Given the description of an element on the screen output the (x, y) to click on. 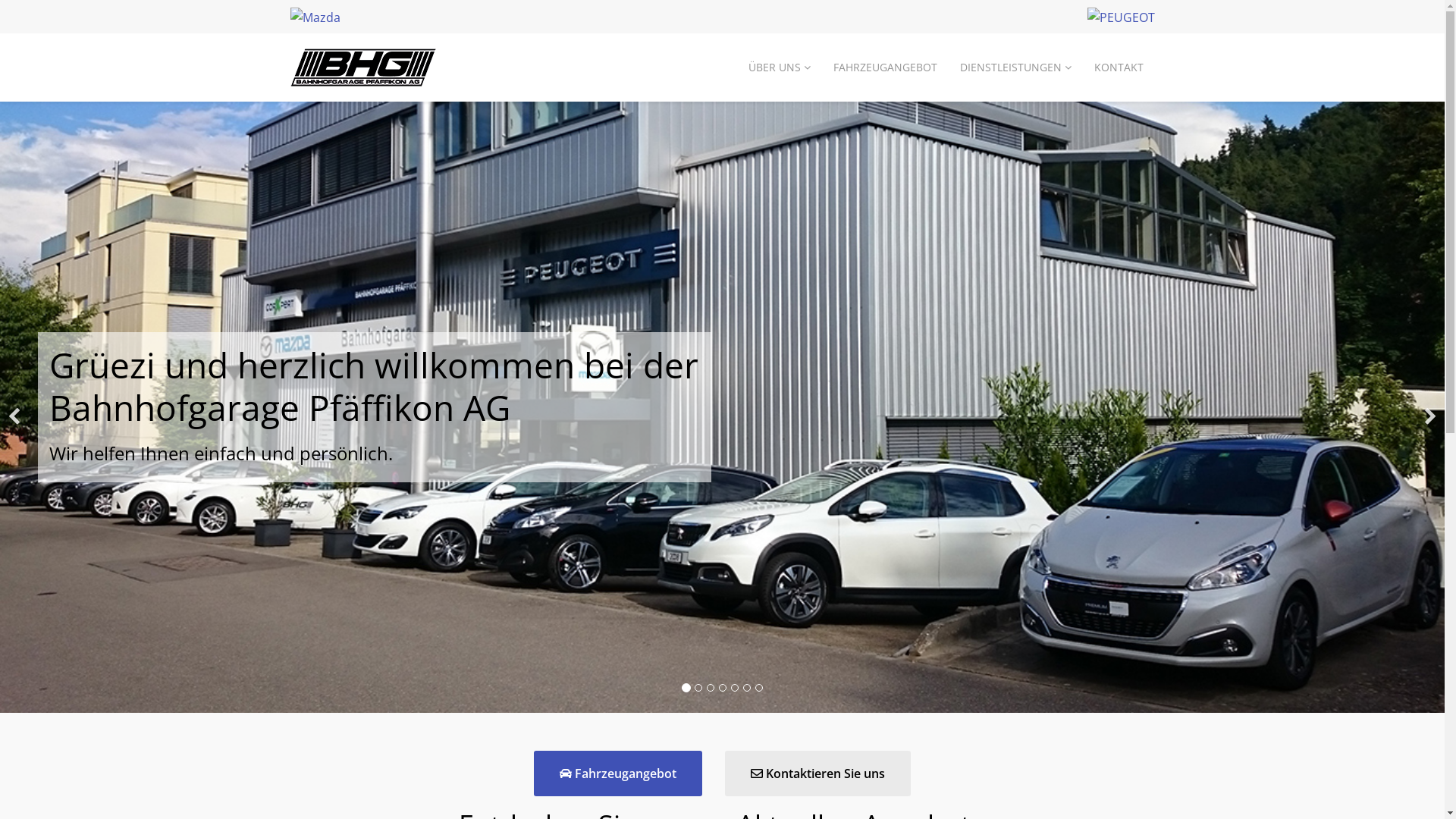
Kontaktieren Sie uns Element type: text (817, 773)
Fahrzeugangebot Element type: text (617, 773)
DIENSTLEISTUNGEN Element type: text (1014, 67)
KONTAKT Element type: text (1118, 67)
FAHRZEUGANGEBOT Element type: text (885, 67)
